Given the description of an element on the screen output the (x, y) to click on. 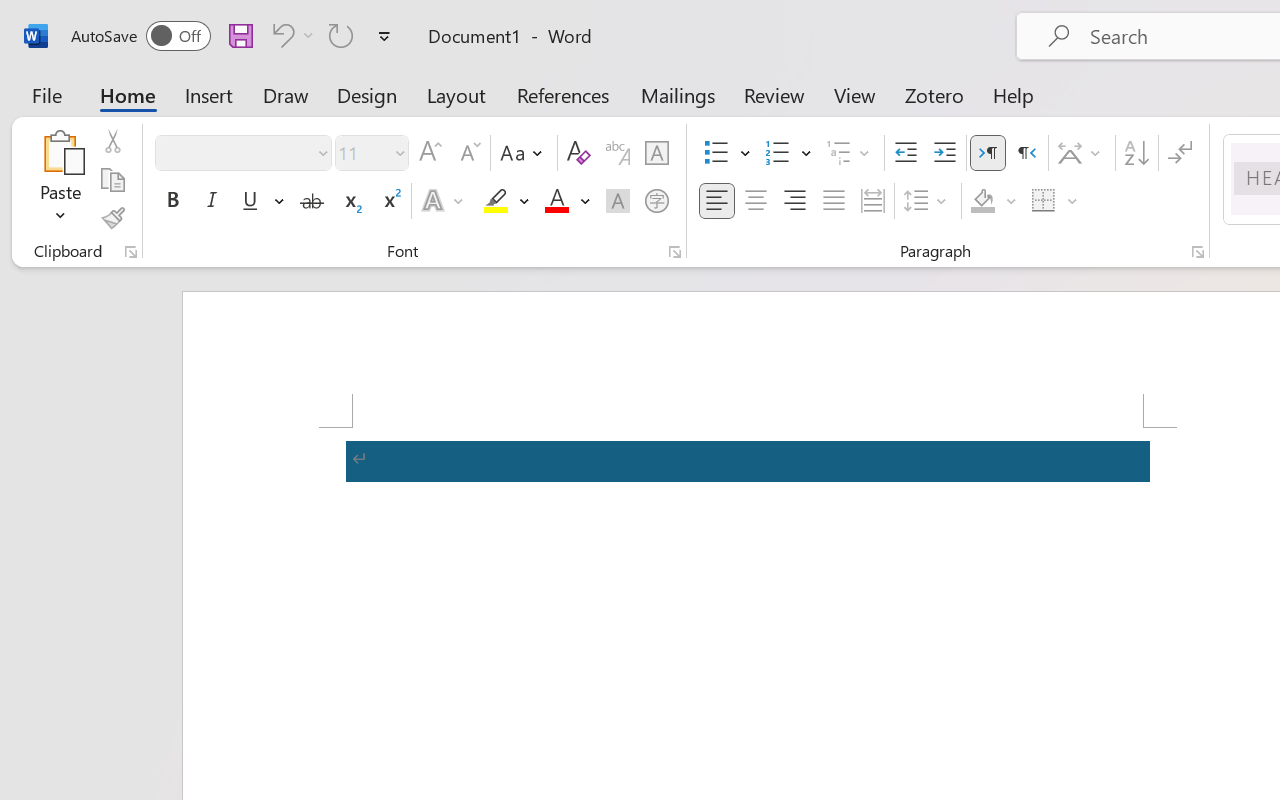
Undo Apply Quick Style Set (290, 35)
Undo Apply Quick Style Set (280, 35)
